Given the description of an element on the screen output the (x, y) to click on. 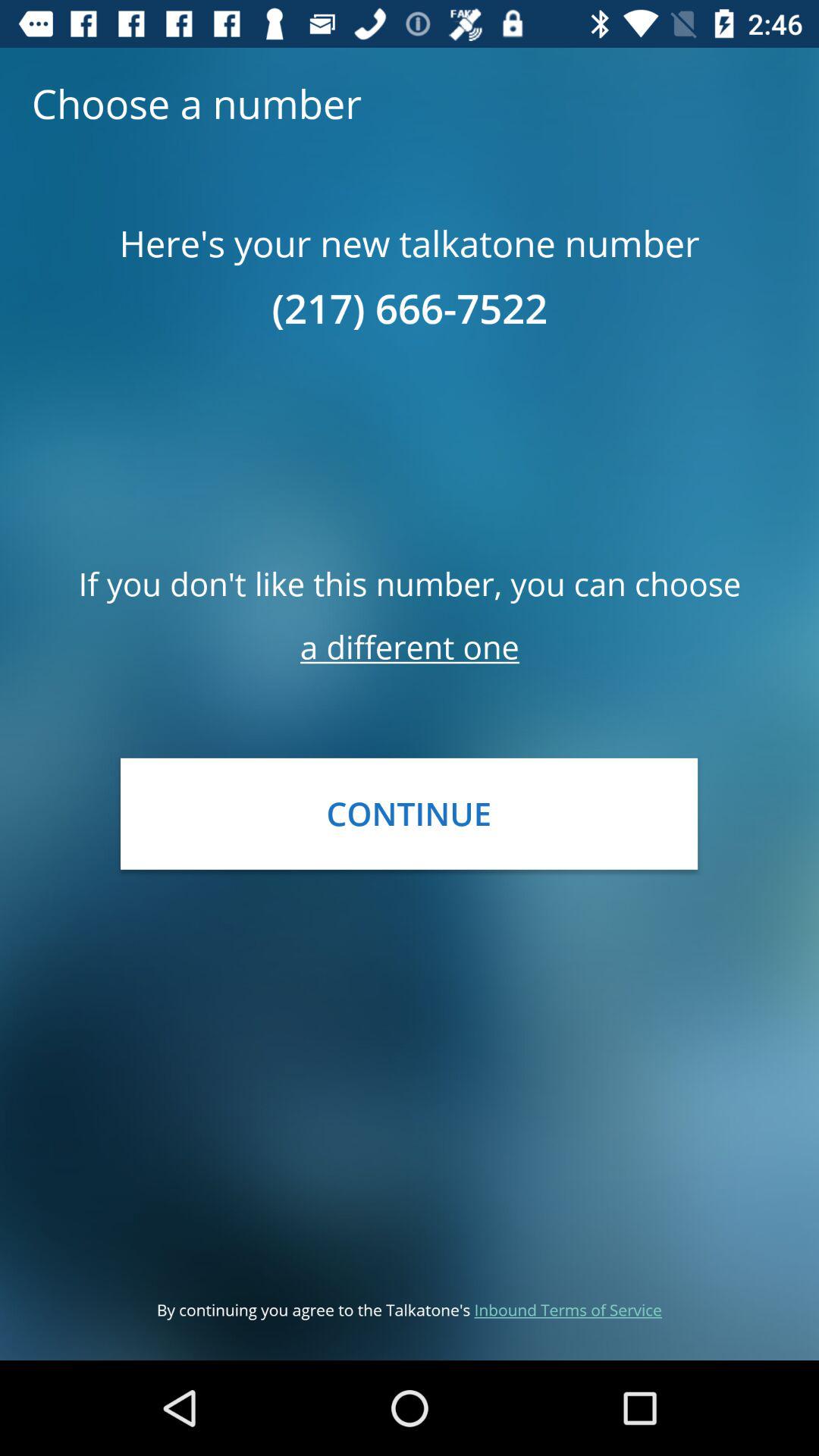
swipe to a different one icon (409, 646)
